Given the description of an element on the screen output the (x, y) to click on. 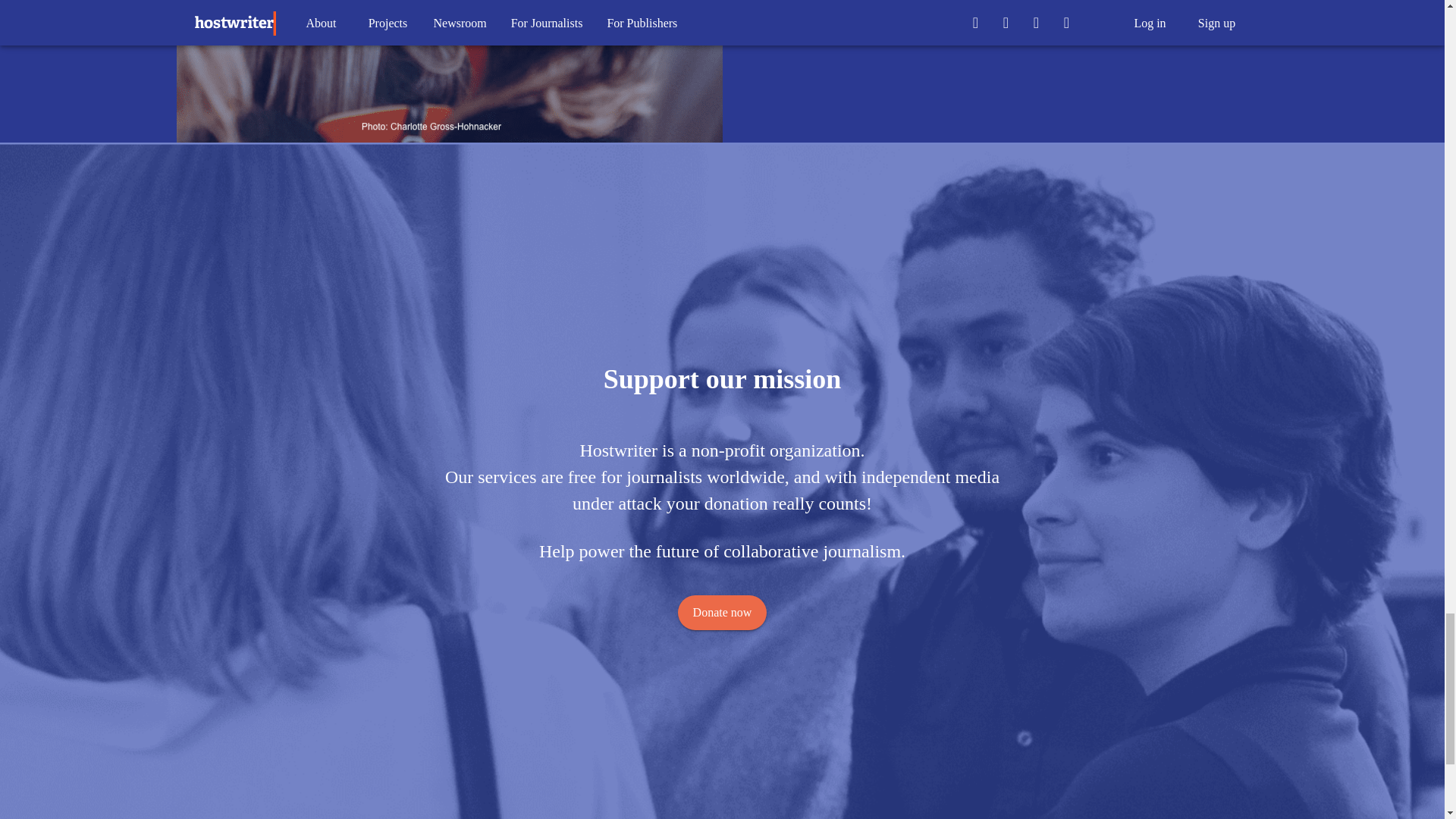
Donate now (722, 612)
Learn more (814, 5)
